Given the description of an element on the screen output the (x, y) to click on. 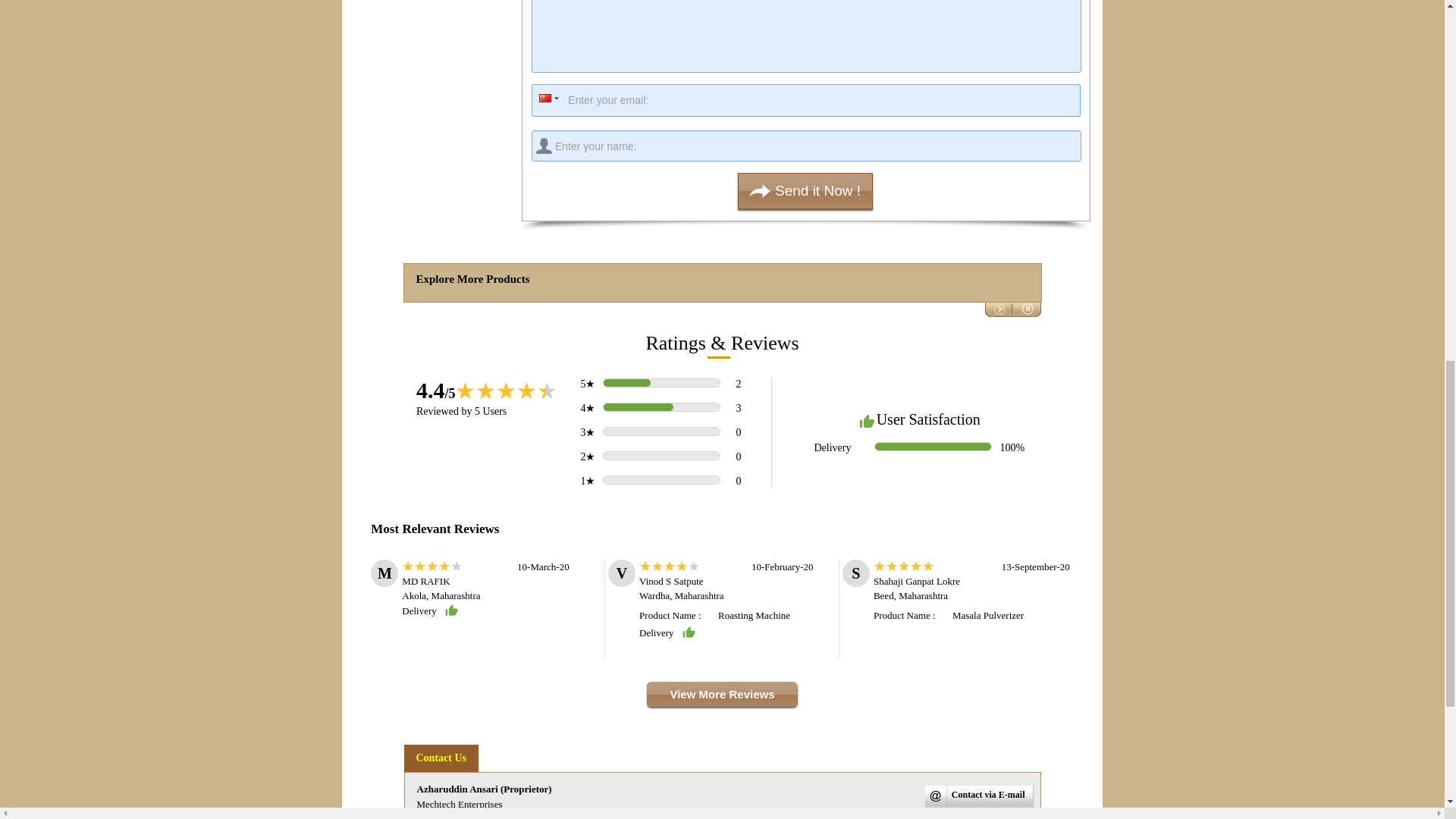
Enter your name: (806, 145)
Enter your email: (805, 100)
Send it Now ! (805, 190)
4.4 out of 5 Votes (435, 389)
Send it Now ! (805, 190)
